Given the description of an element on the screen output the (x, y) to click on. 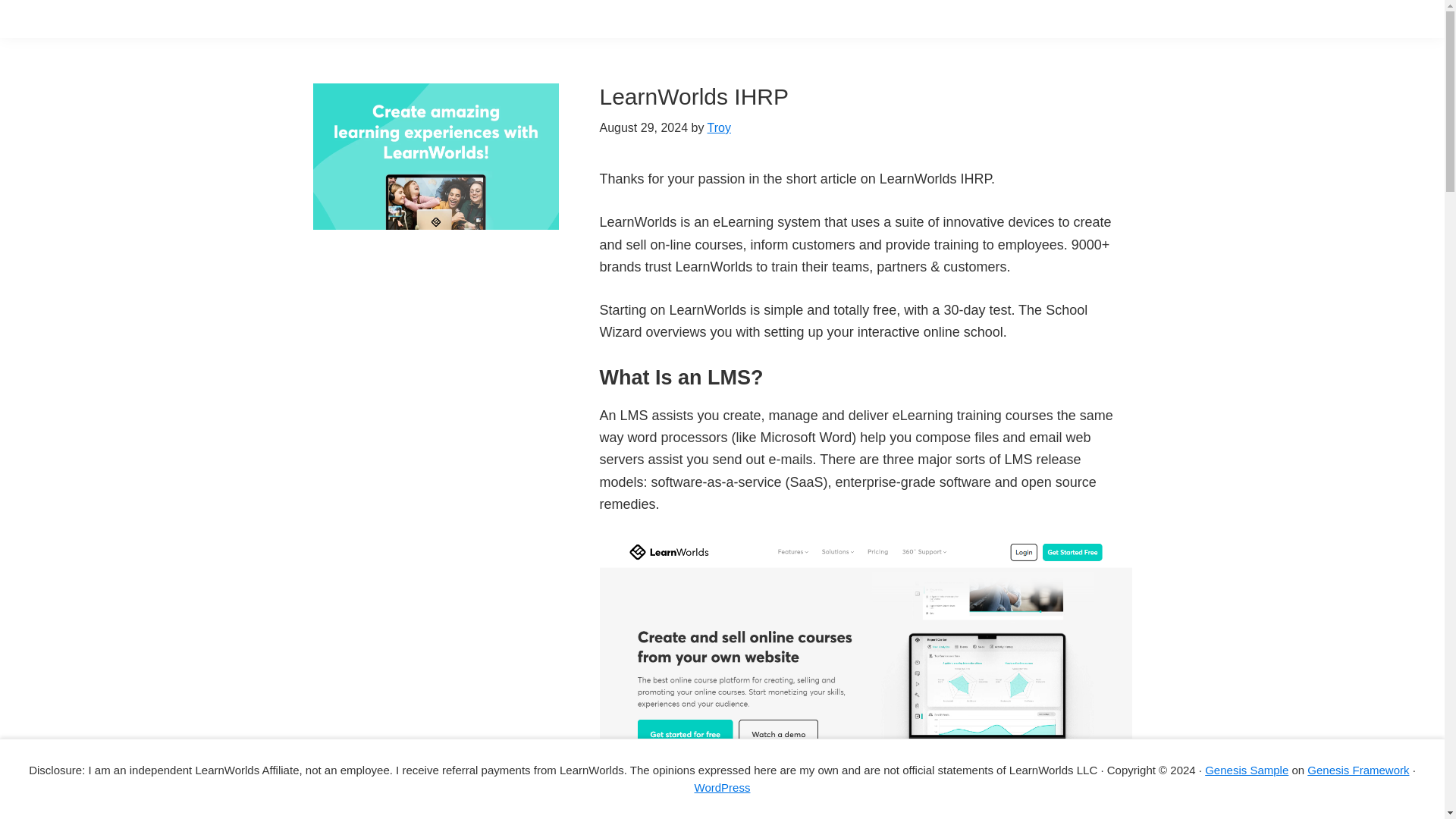
Genesis Sample (1246, 769)
WordPress (722, 787)
Genesis Framework (1358, 769)
Troy (718, 127)
